Given the description of an element on the screen output the (x, y) to click on. 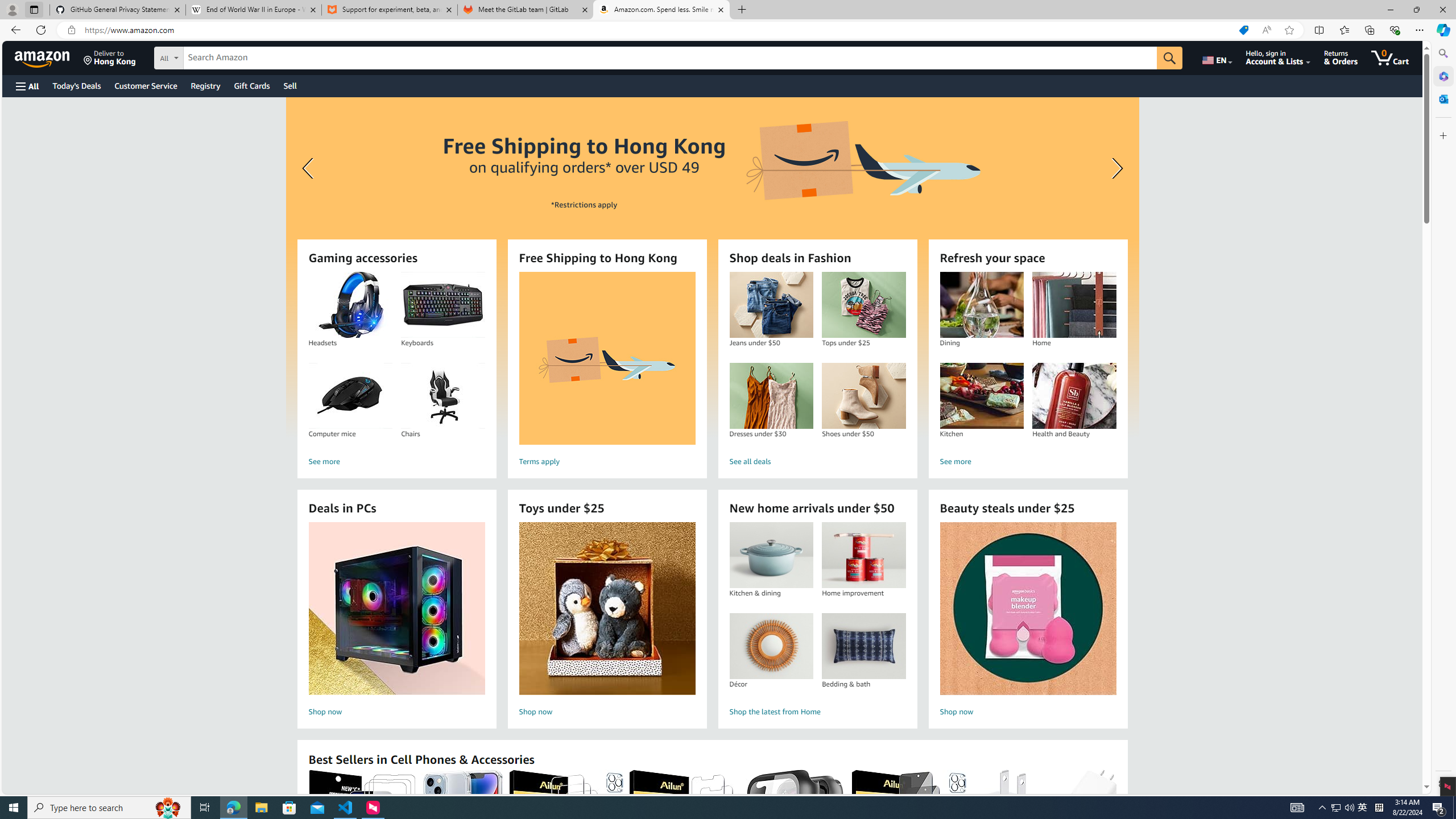
Free Shipping to Hong Kong Learn more (711, 267)
Bedding & bath (863, 645)
GitHub General Privacy Statement - GitHub Docs (117, 9)
Computer mice (350, 395)
Tops under $25 (863, 304)
Next slide (1114, 168)
Returns & Orders (1340, 57)
Shoes under $50 (863, 395)
Keyboards (442, 304)
